Given the description of an element on the screen output the (x, y) to click on. 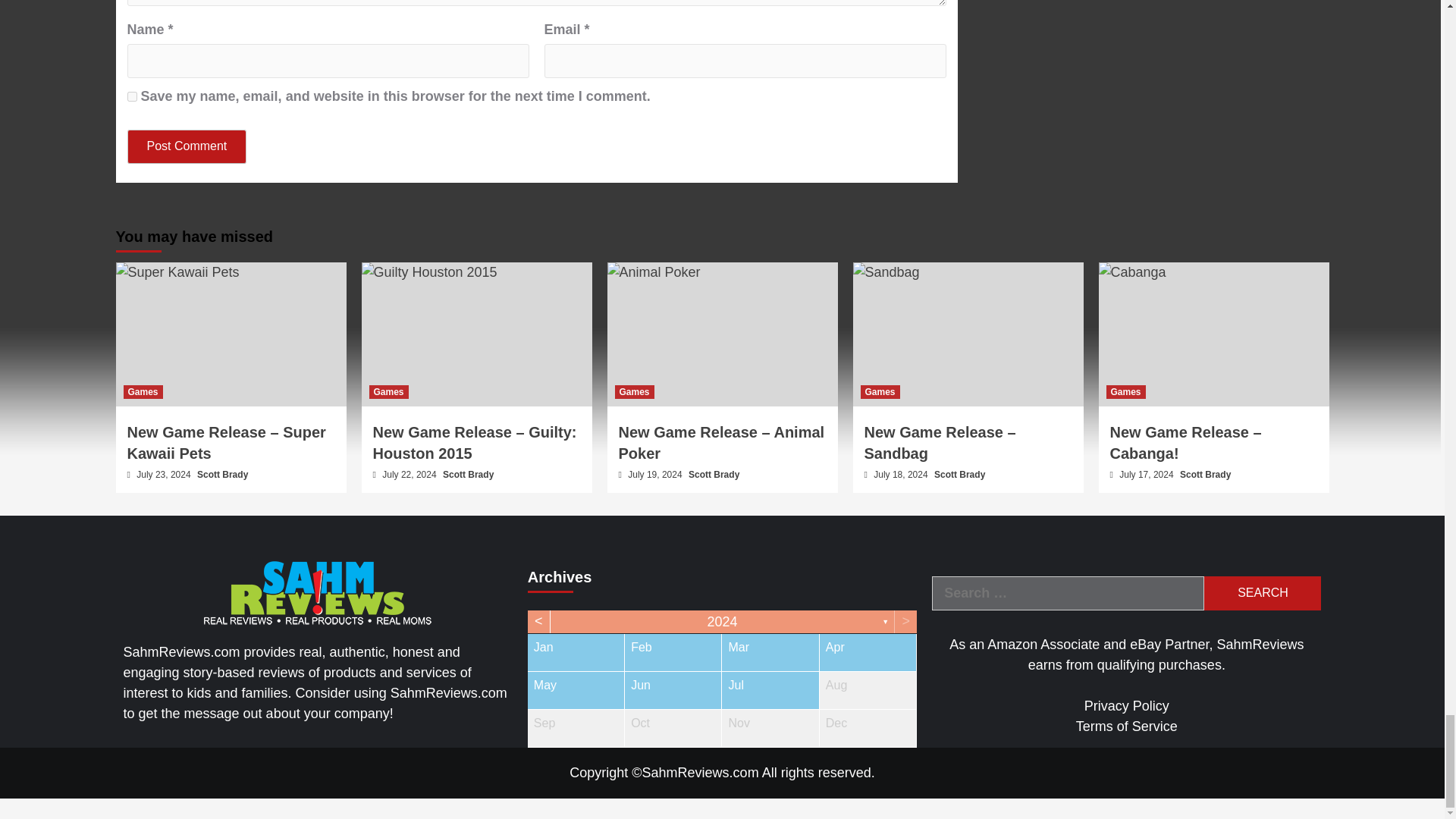
January, 2024 (575, 651)
Search (1262, 593)
yes (132, 96)
February, 2024 (672, 651)
Search (1262, 593)
Post Comment (187, 146)
